Given the description of an element on the screen output the (x, y) to click on. 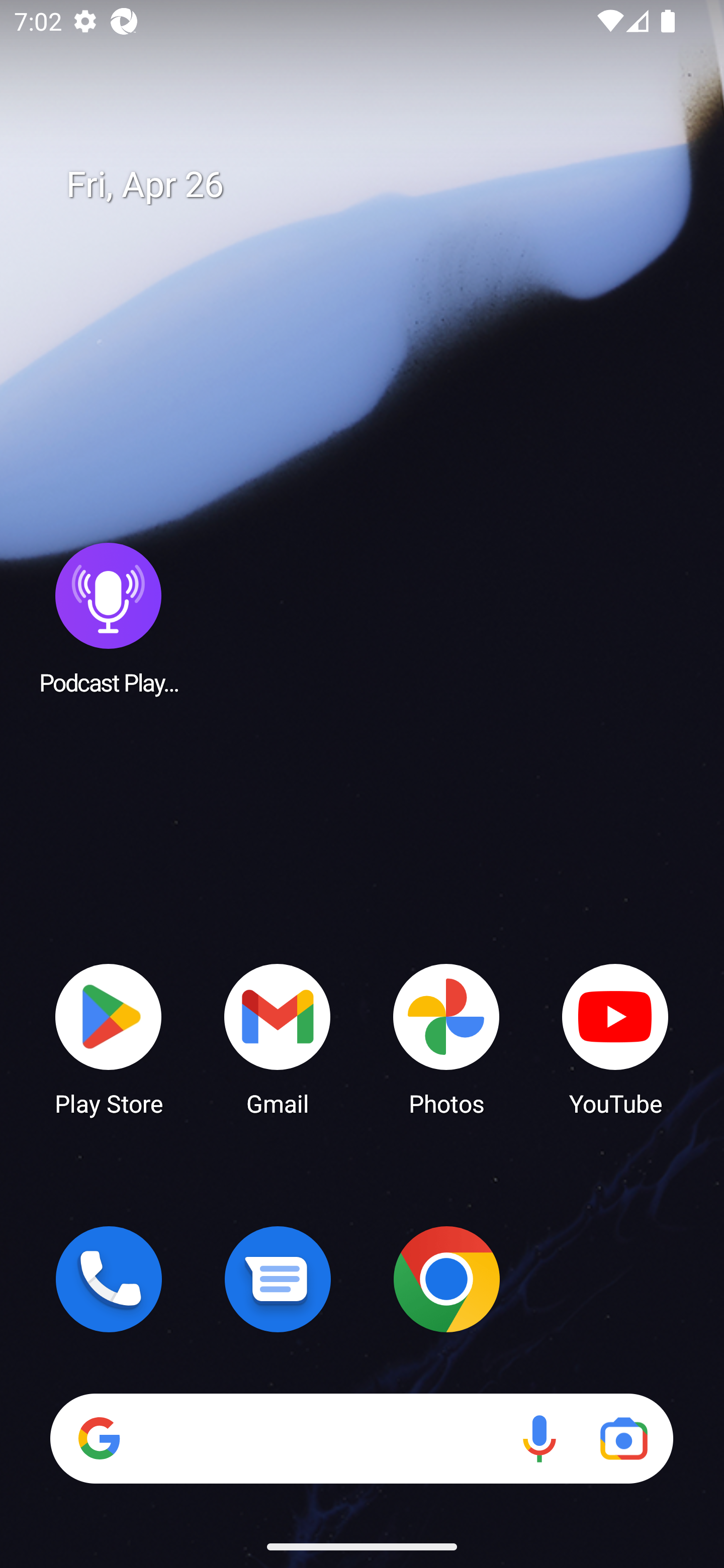
Fri, Apr 26 (375, 184)
Podcast Player (108, 617)
Play Store (108, 1038)
Gmail (277, 1038)
Photos (445, 1038)
YouTube (615, 1038)
Phone (108, 1279)
Messages (277, 1279)
Chrome (446, 1279)
Search Voice search Google Lens (361, 1438)
Voice search (539, 1438)
Google Lens (623, 1438)
